Given the description of an element on the screen output the (x, y) to click on. 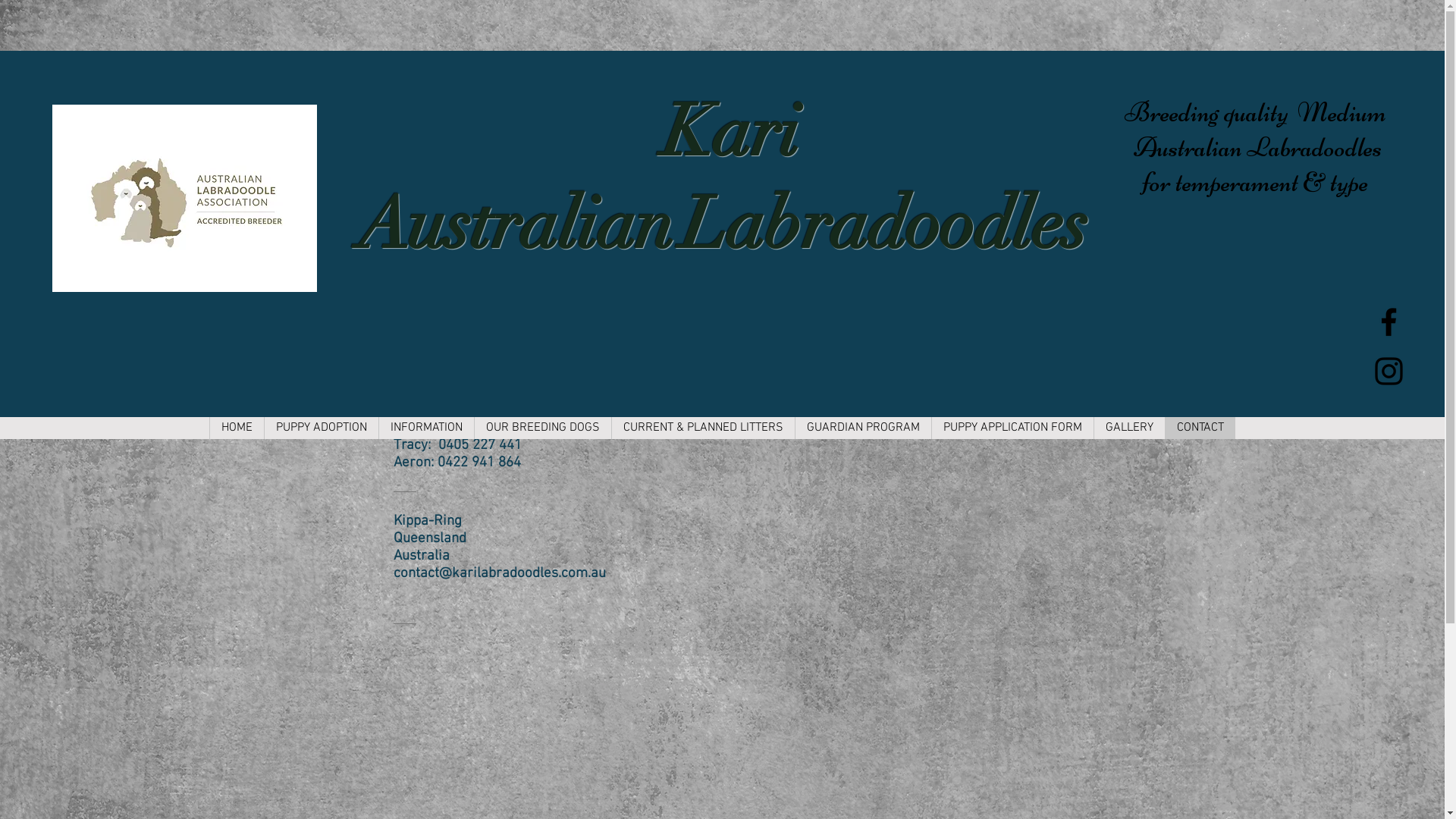
PUPPY APPLICATION FORM Element type: text (1012, 428)
Labradoodles Element type: text (883, 224)
CONTACT Element type: text (1199, 428)
HOME Element type: text (236, 428)
contact@karilabradoodles.com.au Element type: text (498, 573)
PUPPY ADOPTION Element type: text (320, 428)
Australian Element type: text (515, 224)
GUARDIAN PROGRAM Element type: text (862, 428)
OUR BREEDING DOGS Element type: text (542, 428)
 Kari Element type: text (722, 131)
GALLERY Element type: text (1128, 428)
CURRENT & PLANNED LITTERS Element type: text (702, 428)
INFORMATION Element type: text (425, 428)
